Given the description of an element on the screen output the (x, y) to click on. 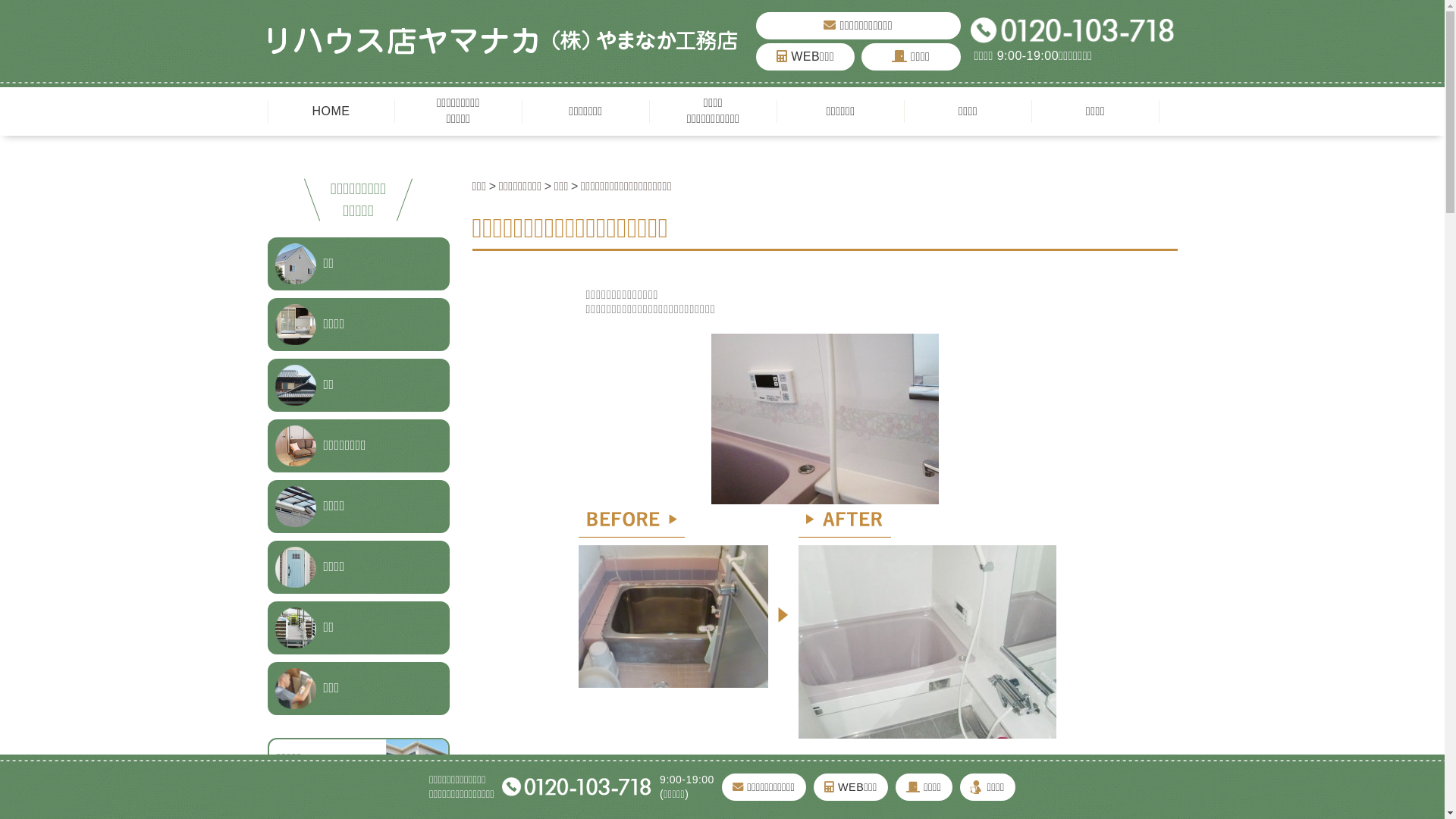
HOME Element type: text (330, 111)
